Given the description of an element on the screen output the (x, y) to click on. 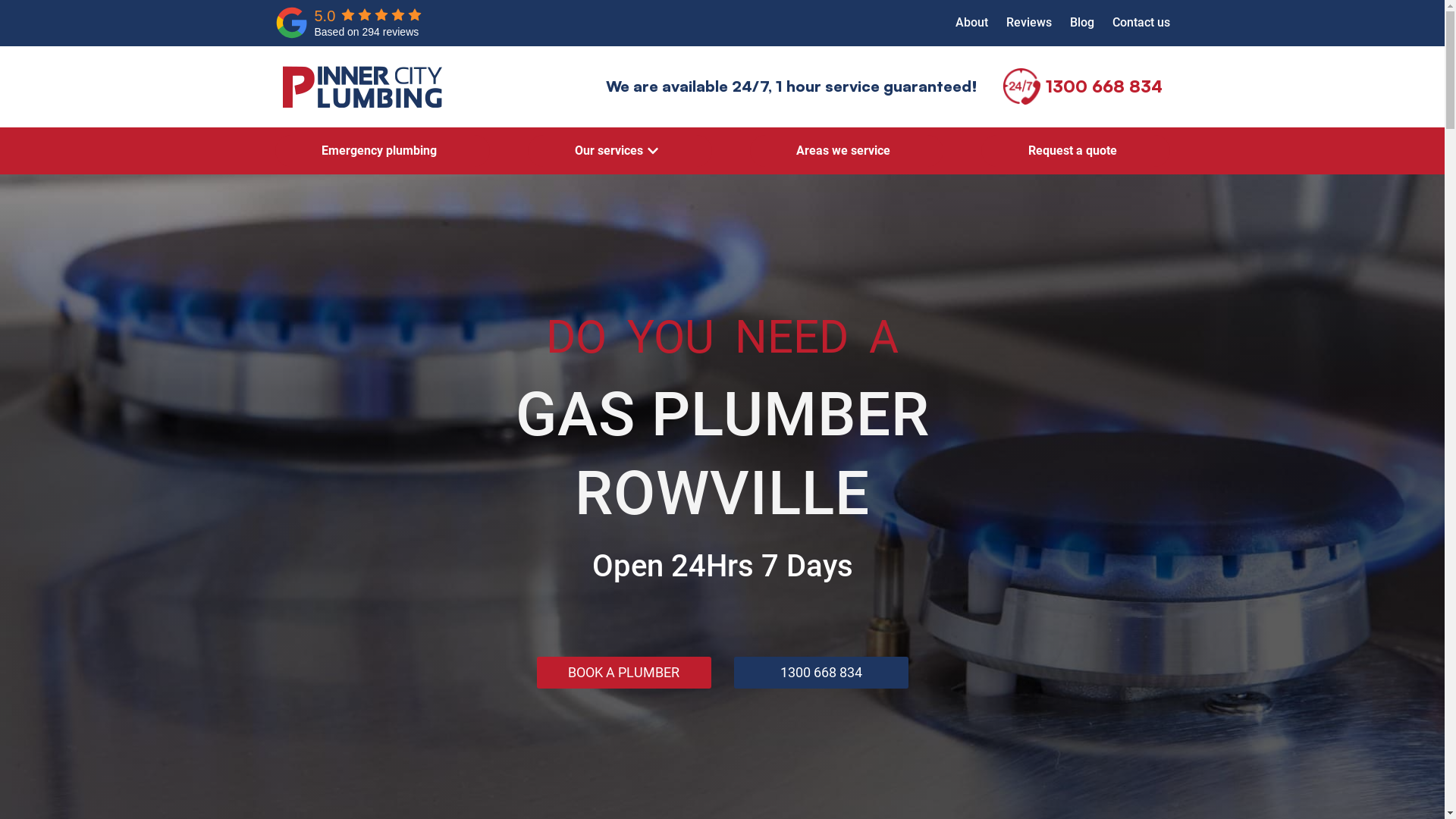
Emergency plumbing Element type: text (378, 150)
Areas we service Element type: text (843, 150)
Contact us Element type: text (1140, 22)
1300 668 834 Element type: text (1102, 85)
BOOK A PLUMBER Element type: text (623, 672)
Reviews Element type: text (1028, 22)
5.0
Based on 294 reviews Element type: text (349, 23)
Request a quote Element type: text (1072, 150)
1300 668 834 Element type: text (821, 672)
About Element type: text (971, 22)
Our services Element type: text (608, 150)
Blog Element type: text (1081, 22)
